Given the description of an element on the screen output the (x, y) to click on. 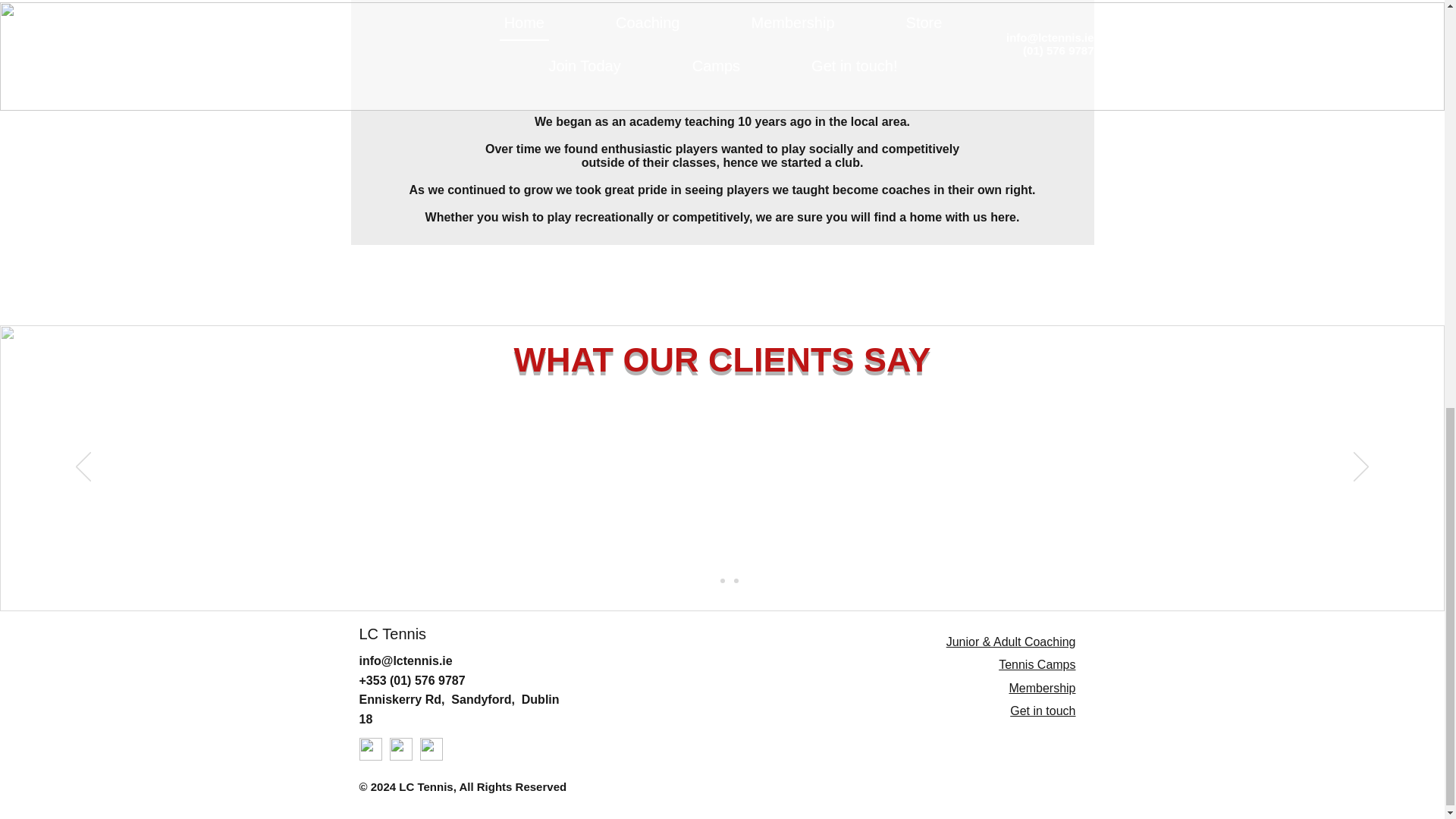
Tennis Camps (1036, 664)
Get in touch (1042, 710)
Membership (1042, 687)
